Given the description of an element on the screen output the (x, y) to click on. 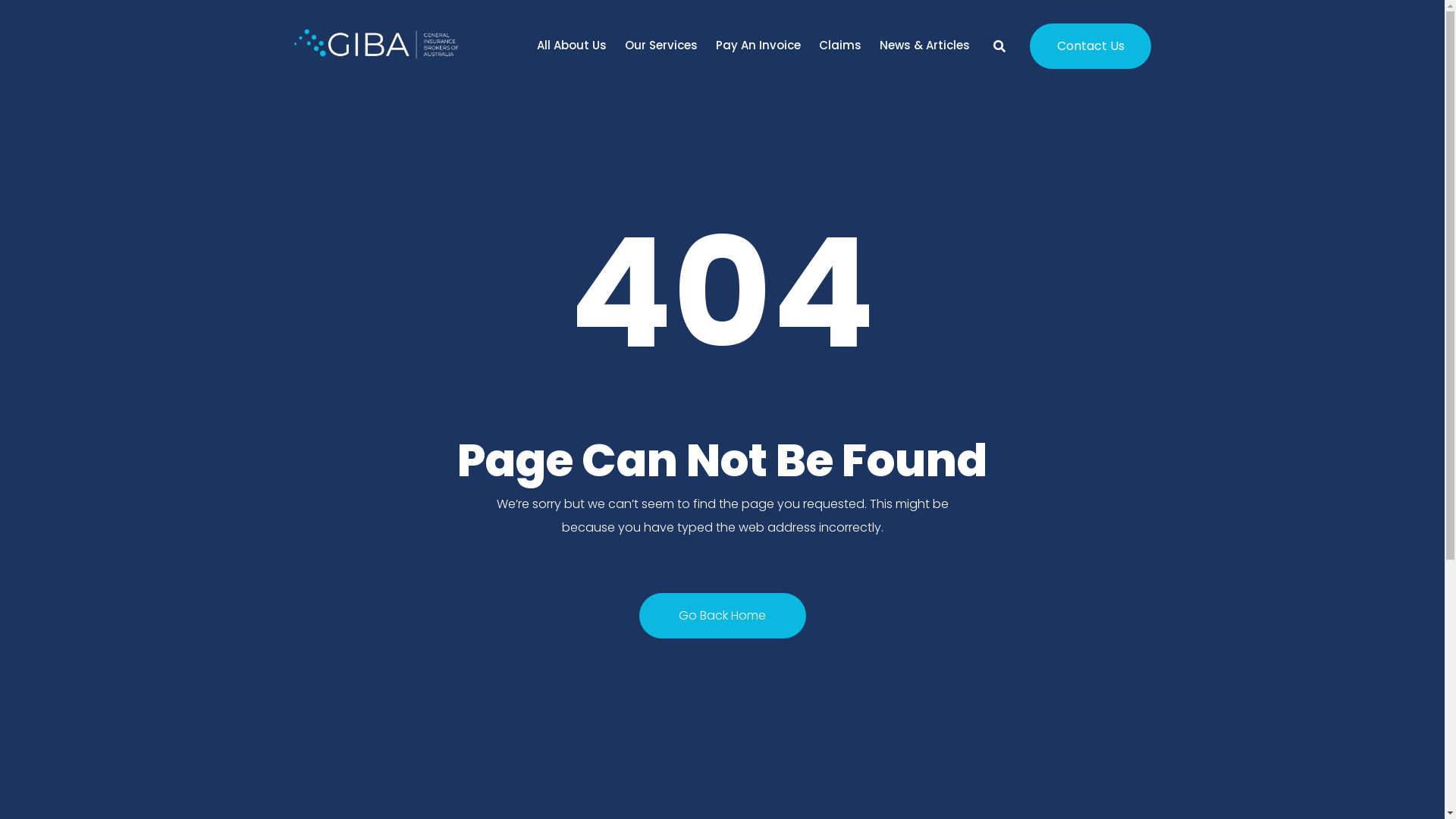
Our Services Element type: text (660, 46)
All About Us Element type: text (571, 46)
Go Back Home Element type: text (721, 615)
Claims Element type: text (840, 46)
Pay An Invoice Element type: text (757, 46)
News & Articles Element type: text (924, 46)
Contact Us Element type: text (1090, 45)
